Given the description of an element on the screen output the (x, y) to click on. 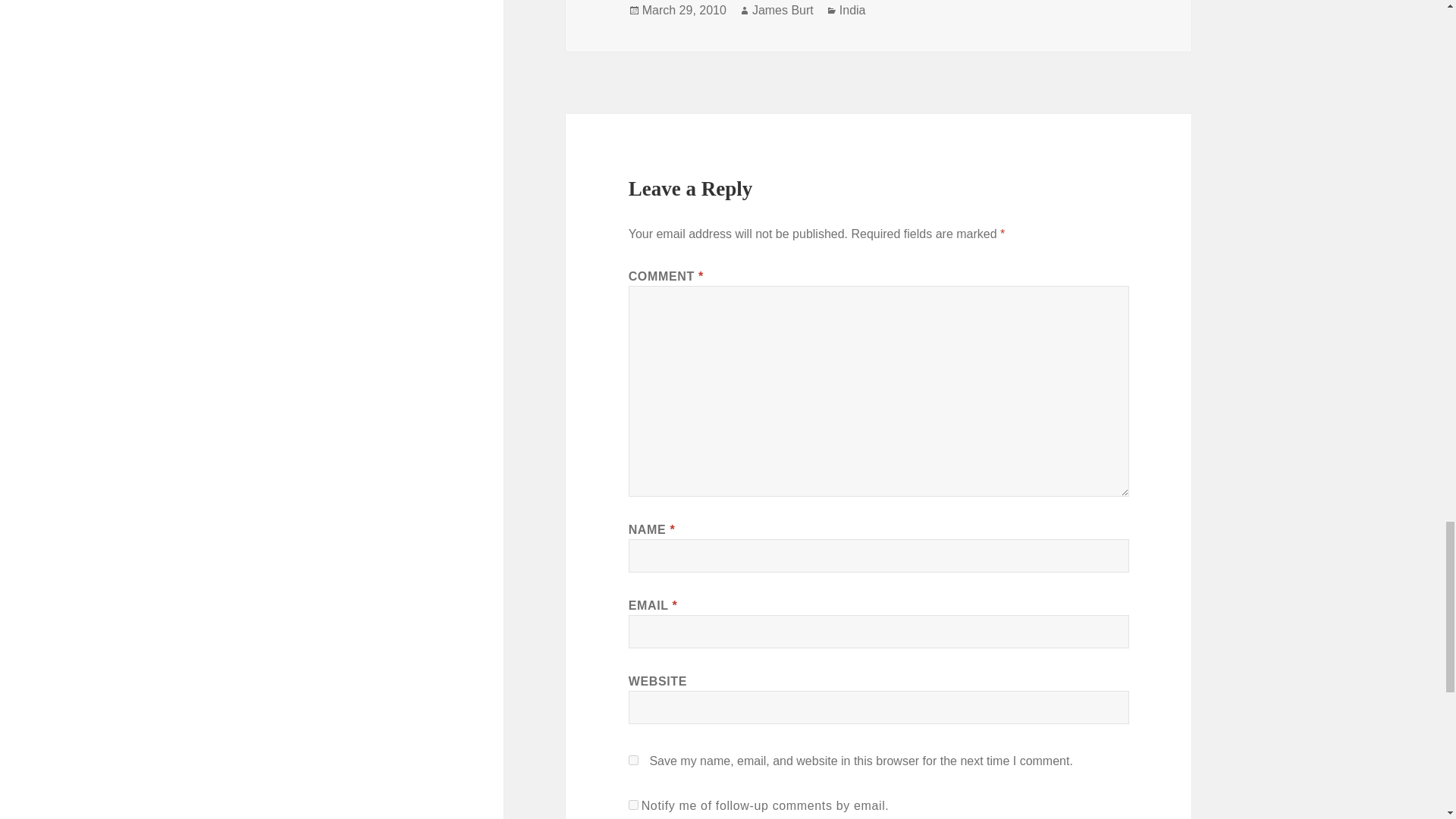
India (853, 10)
yes (633, 759)
James Burt (782, 10)
subscribe (633, 804)
March 29, 2010 (684, 10)
